Given the description of an element on the screen output the (x, y) to click on. 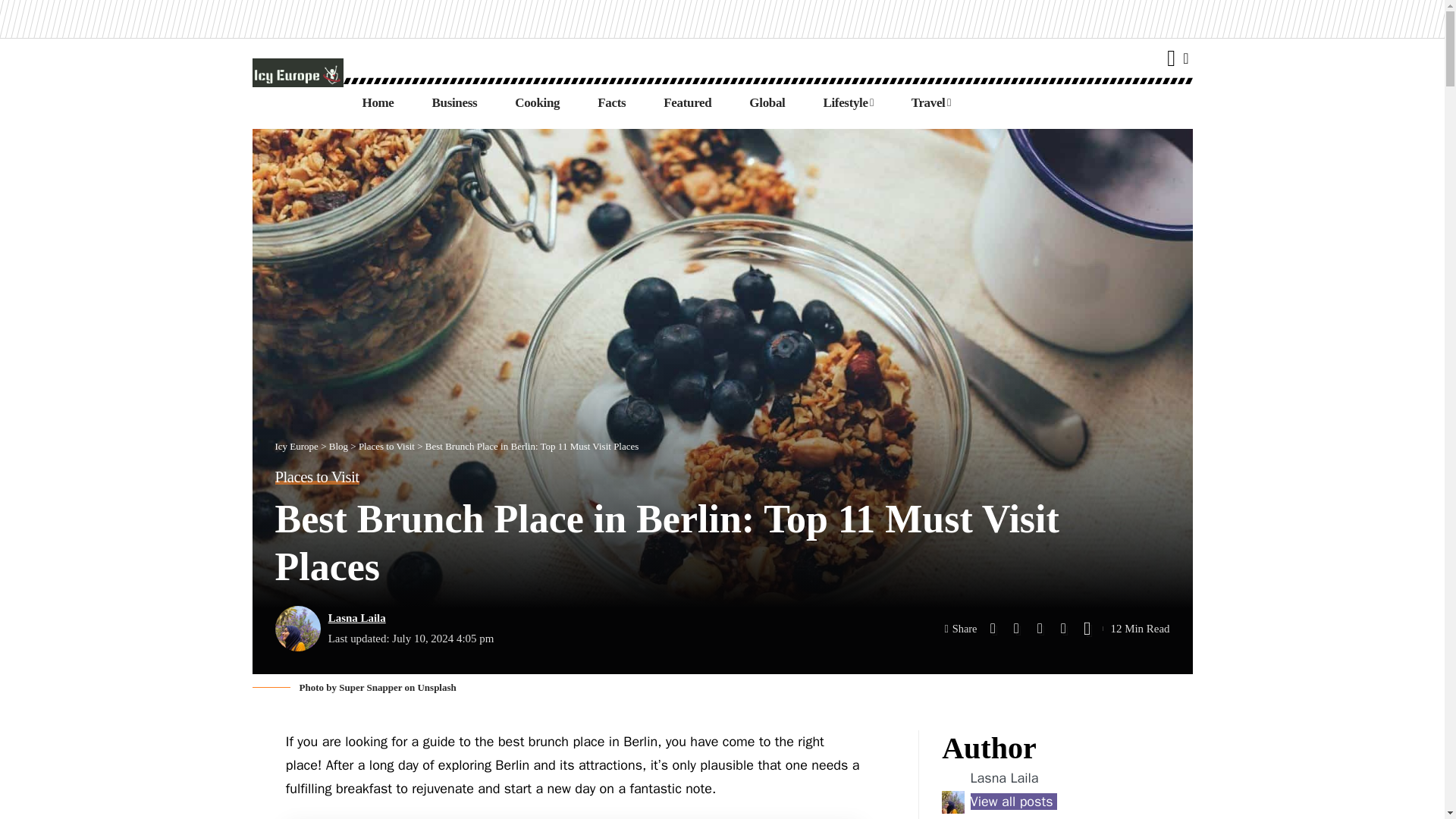
Business (454, 103)
Featured (687, 103)
Go to the Places to Visit Category archives. (386, 446)
Global (766, 103)
Travel (930, 103)
Go to Blog. (338, 446)
Facts (611, 103)
View all posts (1014, 801)
Lifestyle (847, 103)
